Given the description of an element on the screen output the (x, y) to click on. 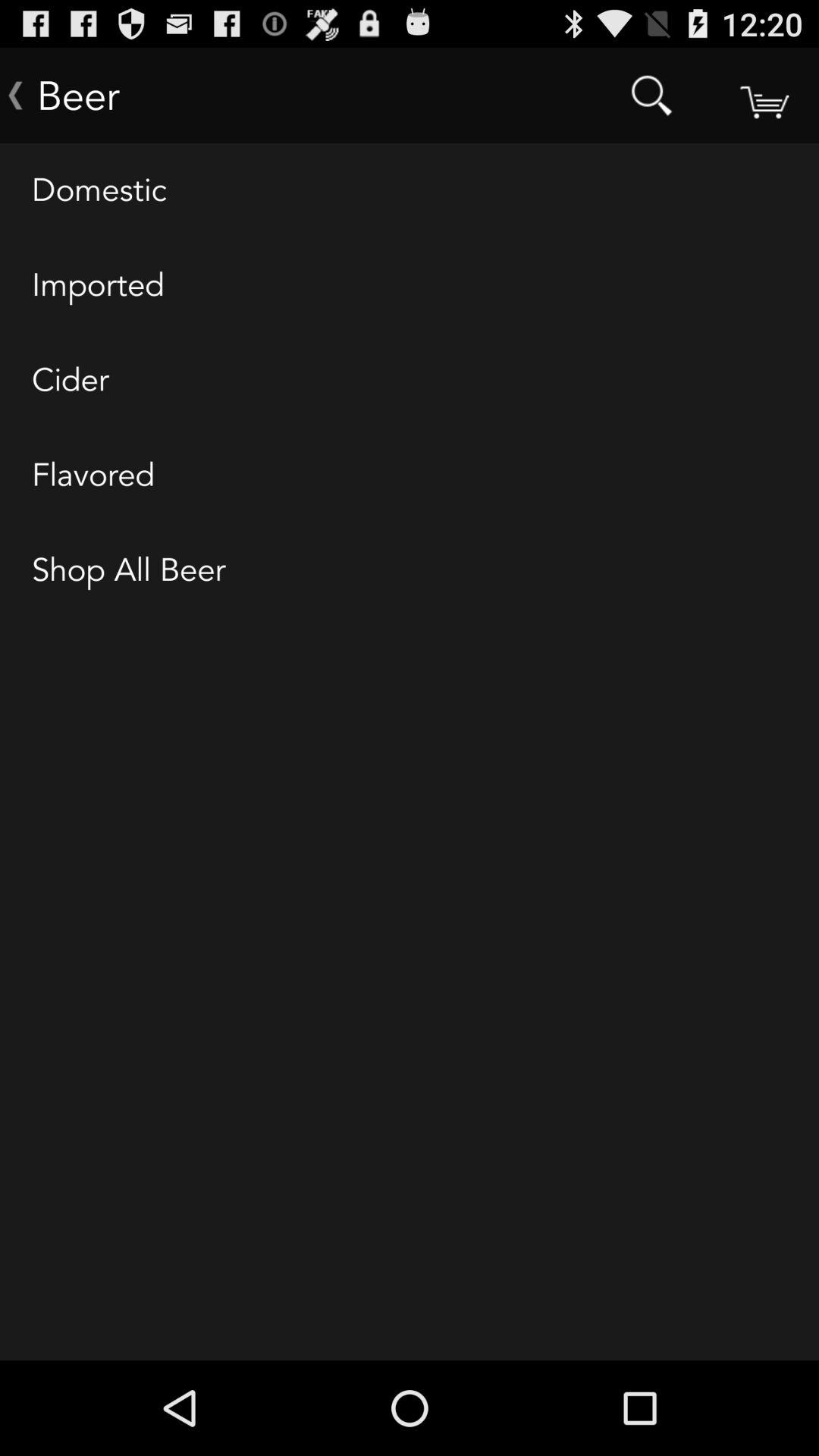
click the domestic icon (409, 190)
